Given the description of an element on the screen output the (x, y) to click on. 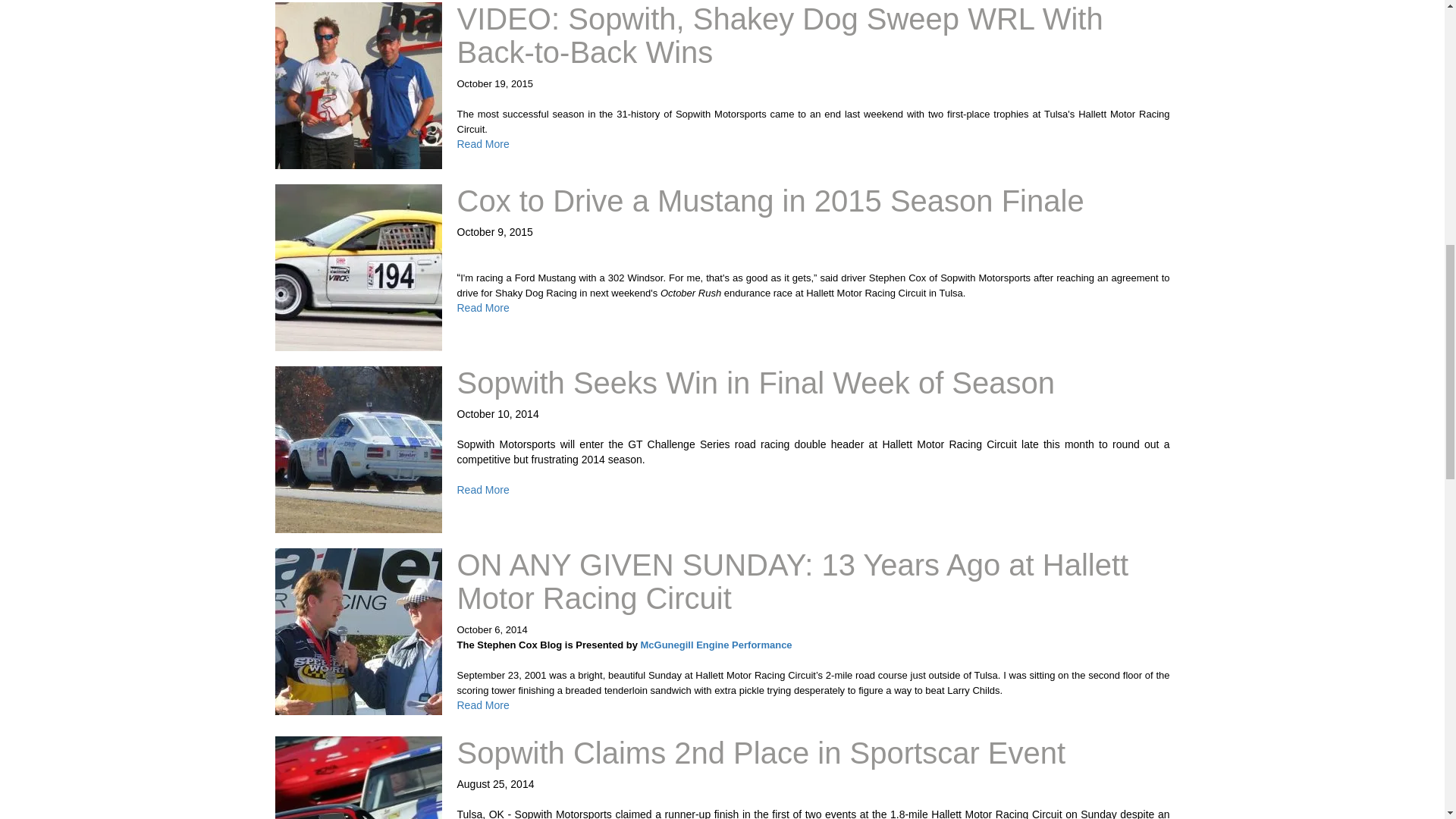
Read More (482, 490)
VIDEO: Sopwith, Shakey Dog Sweep WRL With Back-to-Back Wins (779, 35)
Sopwith Seeks Win in Final Week of Season (755, 382)
VIDEO: Sopwith, Shakey Dog Sweep WRL With Back-to-Back Wins (779, 35)
Read More (482, 307)
Sopwith Claims 2nd Place in Sportscar Event (761, 752)
Cox to Drive a Mustang in 2015 Season Finale (770, 200)
McGunegill Engine Performance (716, 644)
Sopwith Seeks Win in Final Week of Season (755, 382)
Read More (482, 143)
Sopwith Claims 2nd Place in Sportscar Event (761, 752)
Read More (482, 705)
Cox to Drive a Mustang in 2015 Season Finale (770, 200)
